Given the description of an element on the screen output the (x, y) to click on. 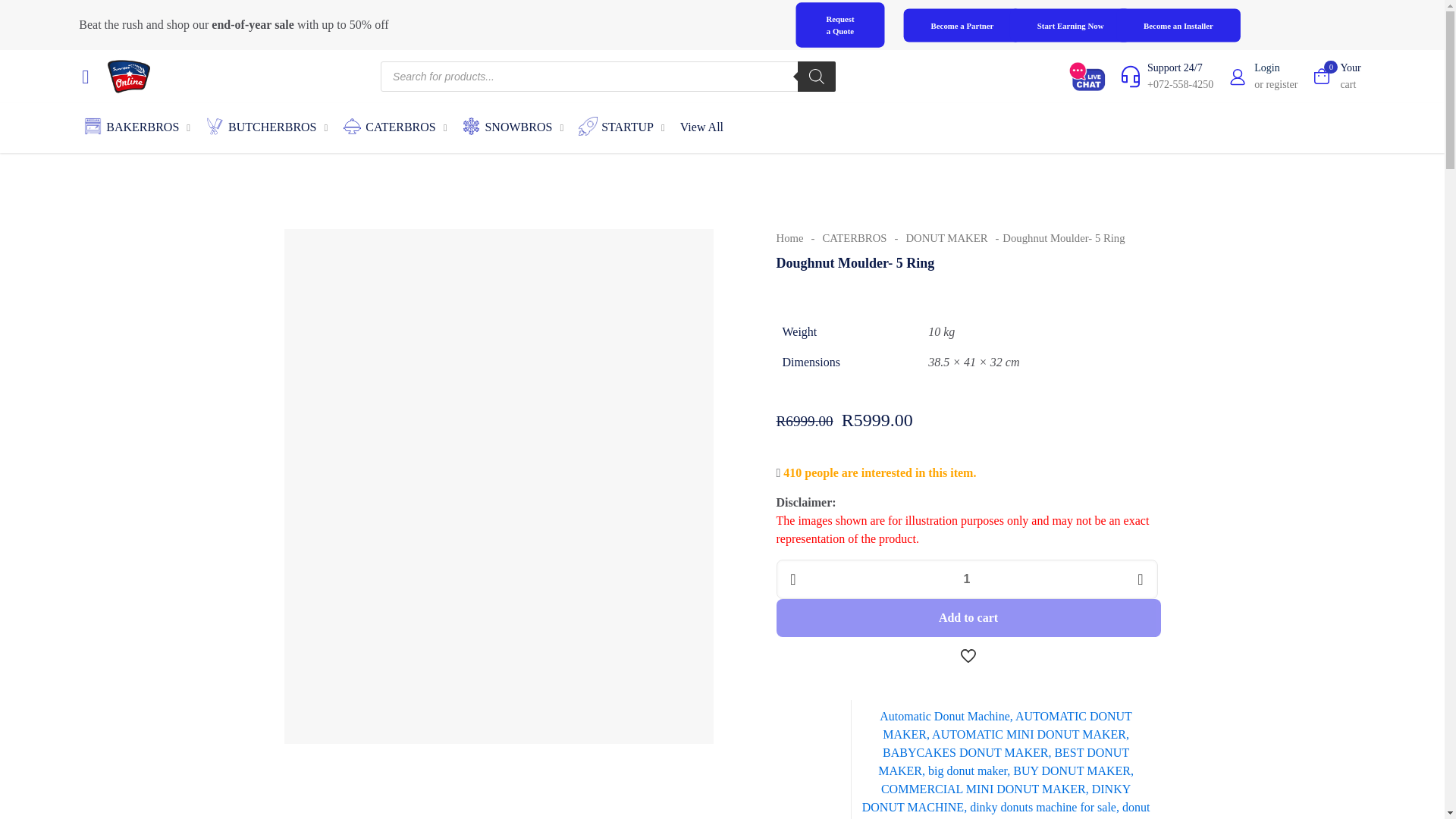
Become an Installer (1336, 76)
Start Earning Now (1184, 26)
Request a Quote (1077, 26)
BAKERBROS (1262, 76)
1 (845, 27)
Become a Partner (136, 130)
